Given the description of an element on the screen output the (x, y) to click on. 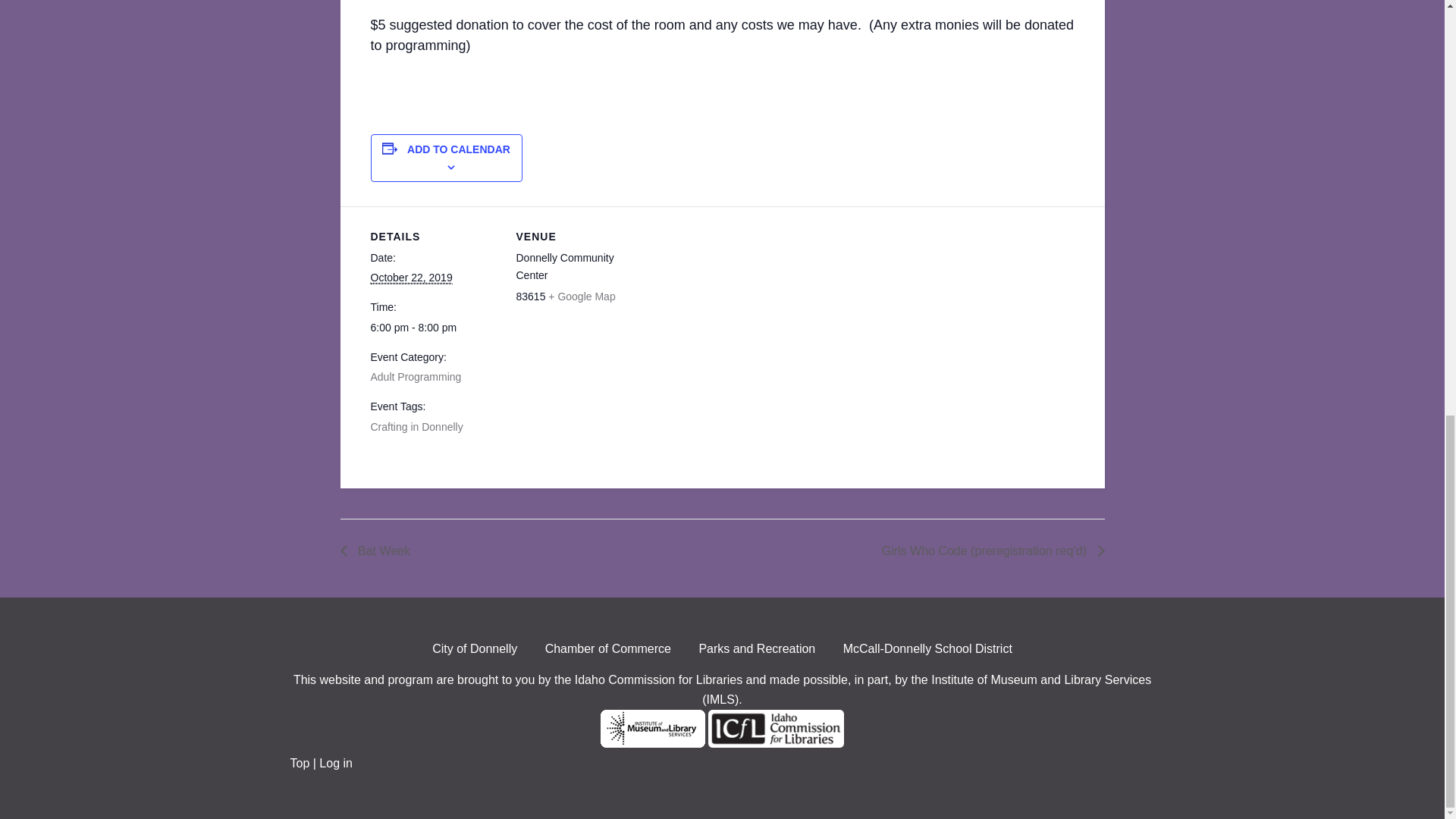
Bat Week (379, 550)
Institute of Museum and Library Services (651, 743)
Click to view a Google Map (581, 296)
Adult Programming (415, 377)
2019-10-22 (410, 277)
Idaho Commission for Libraries (658, 679)
ADD TO CALENDAR (459, 149)
2019-10-22 (433, 327)
Crafting in Donnelly (416, 426)
Idaho Commission for Libraries (775, 743)
City of Donnelly (474, 652)
